Given the description of an element on the screen output the (x, y) to click on. 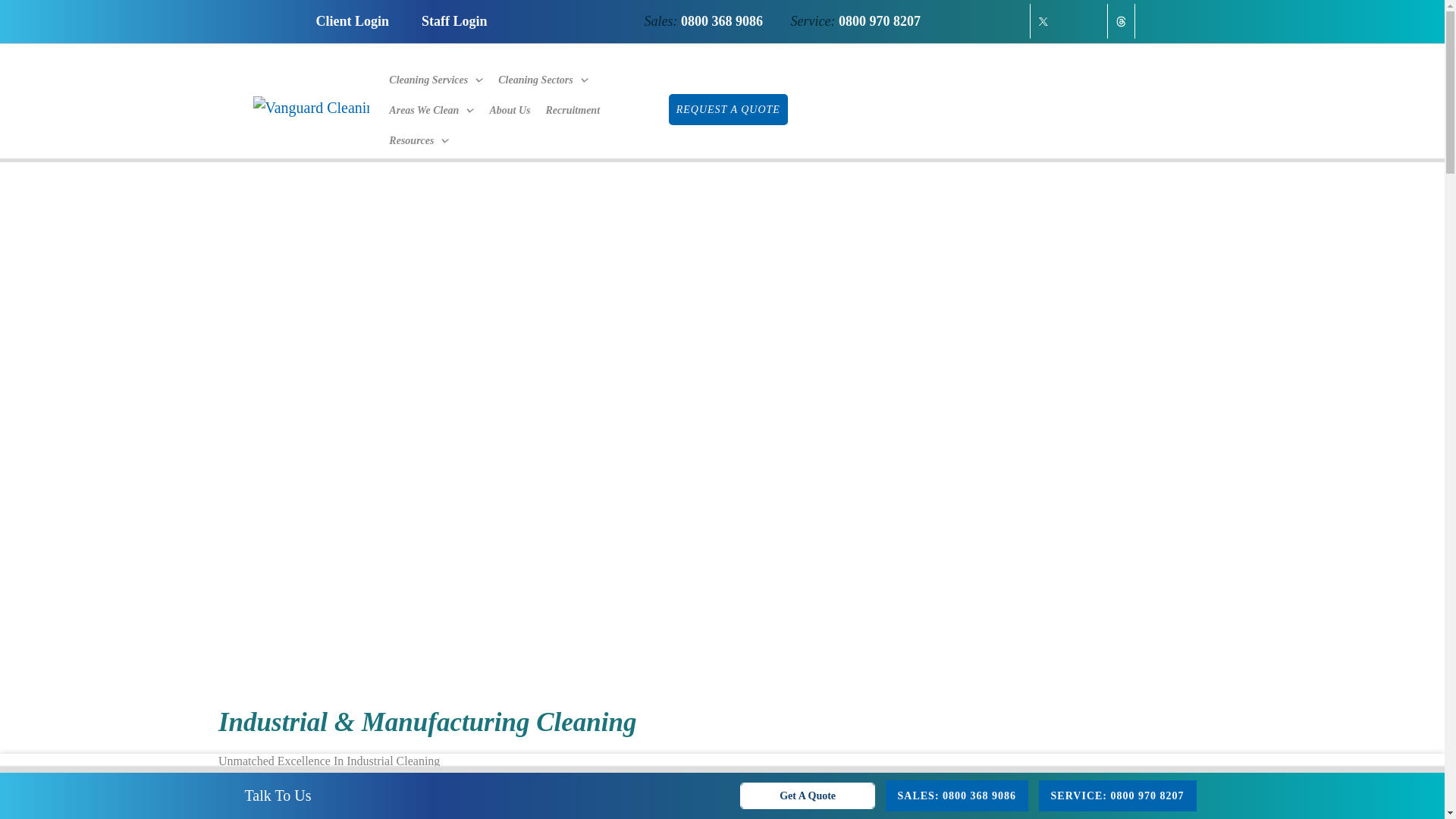
0800 970 8207 (879, 20)
Staff Login (454, 20)
Cleaning Sectors (542, 76)
Cleaning Services (435, 76)
Areas We Clean (431, 106)
0800 368 9086 (721, 20)
Client Login (351, 20)
